Given the description of an element on the screen output the (x, y) to click on. 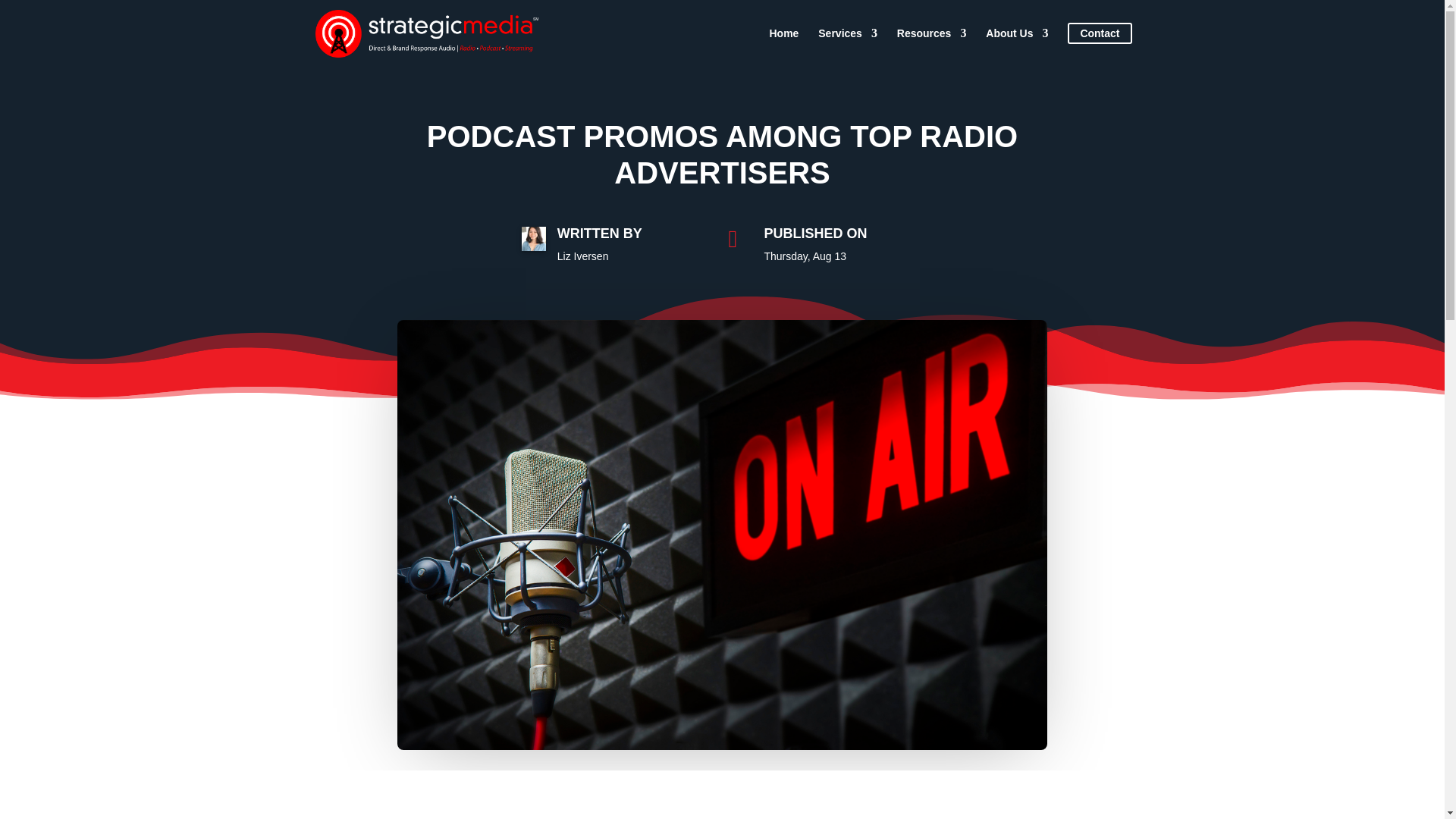
Services (847, 45)
Resources (931, 45)
Contact (1099, 46)
About Us (1016, 45)
